Given the description of an element on the screen output the (x, y) to click on. 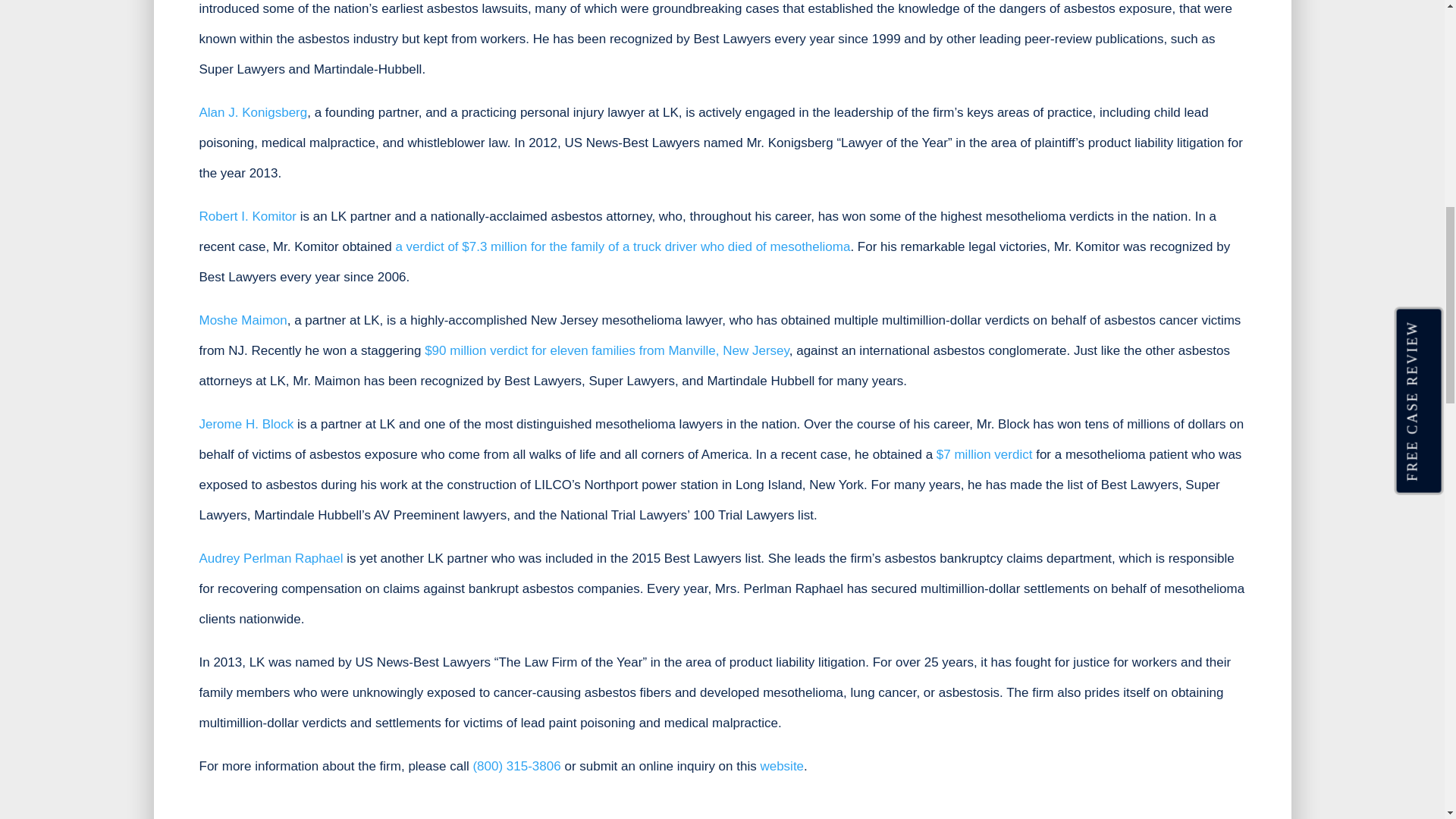
Audrey P. Raphael (270, 558)
mesothelioma lawyer (984, 454)
mesothelioma lawyers (622, 246)
New Jersey mesothelioma lawyers (607, 350)
Alan Konigsberg (252, 112)
NJ mesothelioma lawyer (242, 319)
Jerry Block (246, 423)
Bob Komitor (247, 216)
